Given the description of an element on the screen output the (x, y) to click on. 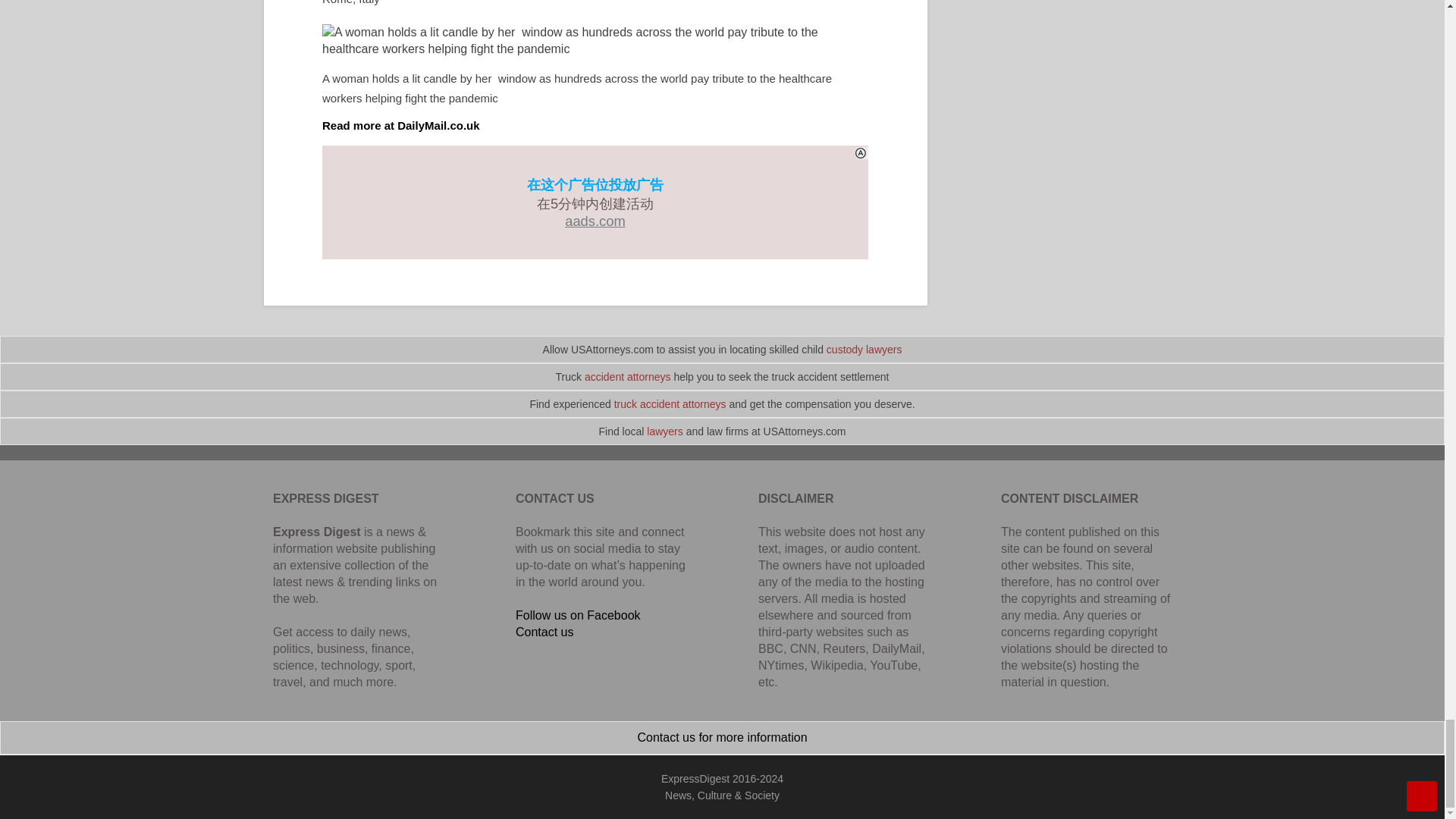
custody lawyers (864, 349)
Read more at DailyMail.co.uk (400, 124)
accident attorneys (628, 377)
lawyers (664, 431)
truck accident attorneys (670, 404)
